Given the description of an element on the screen output the (x, y) to click on. 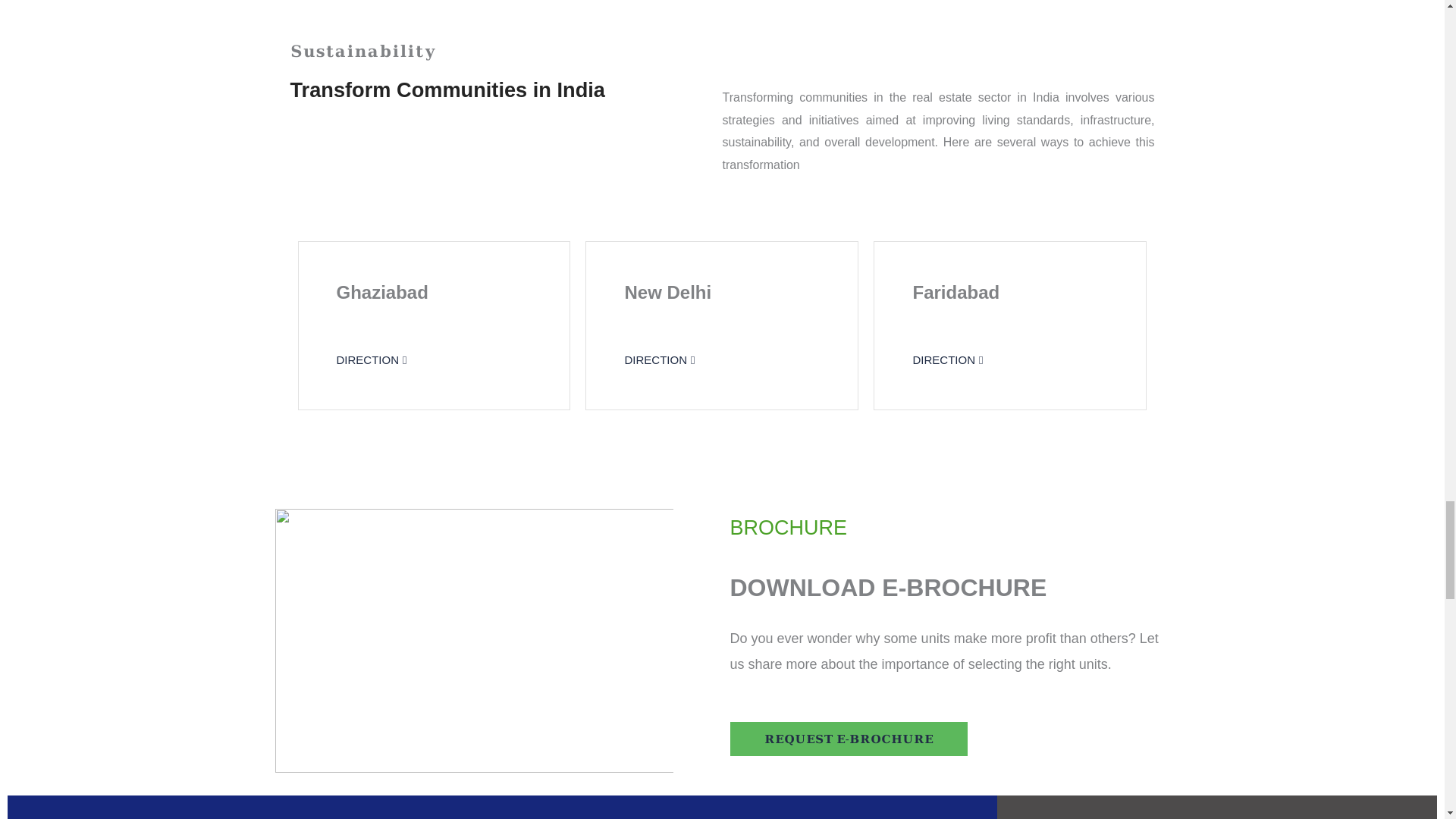
DIRECTION (659, 359)
DIRECTION (947, 359)
DIRECTION (371, 359)
